Given the description of an element on the screen output the (x, y) to click on. 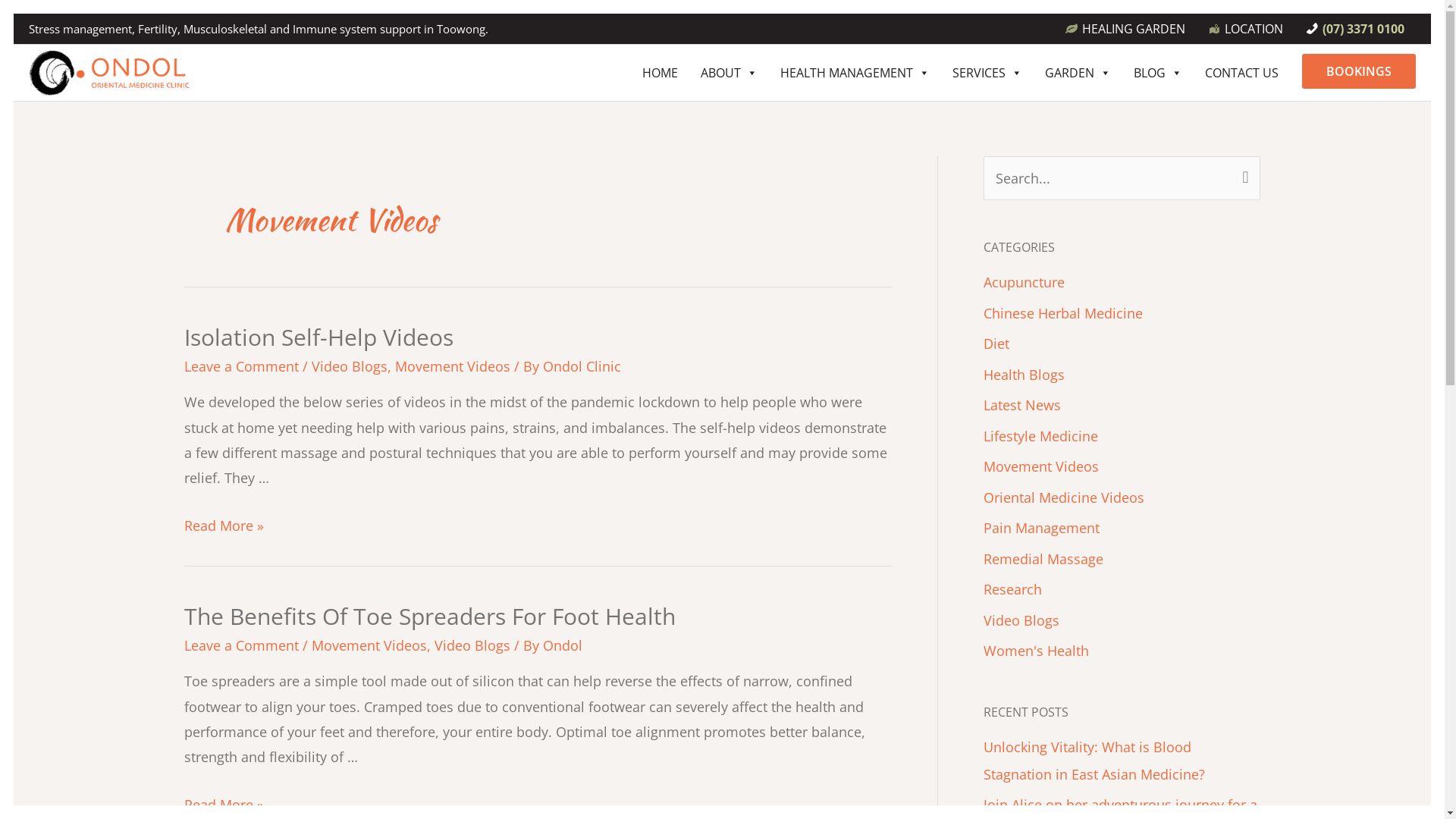
Ondol Clinic Element type: text (581, 366)
SERVICES Element type: text (987, 72)
Ondol Element type: text (562, 645)
(07) 3371 0100 Element type: text (1354, 28)
LOCATION Element type: text (1245, 28)
Movement Videos Element type: text (451, 366)
CONTACT US Element type: text (1241, 72)
Movement Videos Element type: text (1040, 466)
HOME Element type: text (659, 72)
Latest News Element type: text (1021, 404)
Pain Management Element type: text (1040, 527)
HEALING GARDEN Element type: text (1125, 28)
Remedial Massage Element type: text (1042, 558)
Women's Health Element type: text (1035, 650)
Search Element type: text (1242, 178)
Video Blogs Element type: text (348, 366)
Research Element type: text (1011, 589)
Lifestyle Medicine Element type: text (1039, 435)
Diet Element type: text (995, 343)
HEALTH MANAGEMENT Element type: text (854, 72)
Leave a Comment Element type: text (240, 645)
BLOG Element type: text (1157, 72)
ABOUT Element type: text (728, 72)
Isolation Self-Help Videos Element type: text (317, 336)
Video Blogs Element type: text (1020, 620)
BOOKINGS Element type: text (1358, 70)
Chinese Herbal Medicine Element type: text (1062, 313)
Leave a Comment Element type: text (240, 366)
GARDEN Element type: text (1077, 72)
Oriental Medicine Videos Element type: text (1062, 497)
Acupuncture Element type: text (1022, 282)
Movement Videos Element type: text (368, 645)
Health Blogs Element type: text (1022, 374)
The Benefits Of Toe Spreaders For Foot Health Element type: text (428, 615)
Video Blogs Element type: text (471, 645)
